Given the description of an element on the screen output the (x, y) to click on. 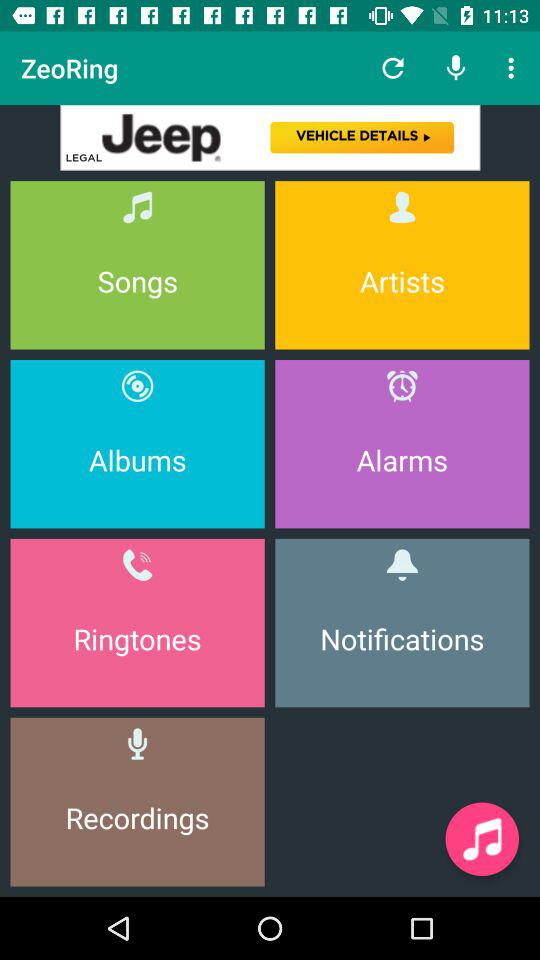
advertisement banner (270, 137)
